Given the description of an element on the screen output the (x, y) to click on. 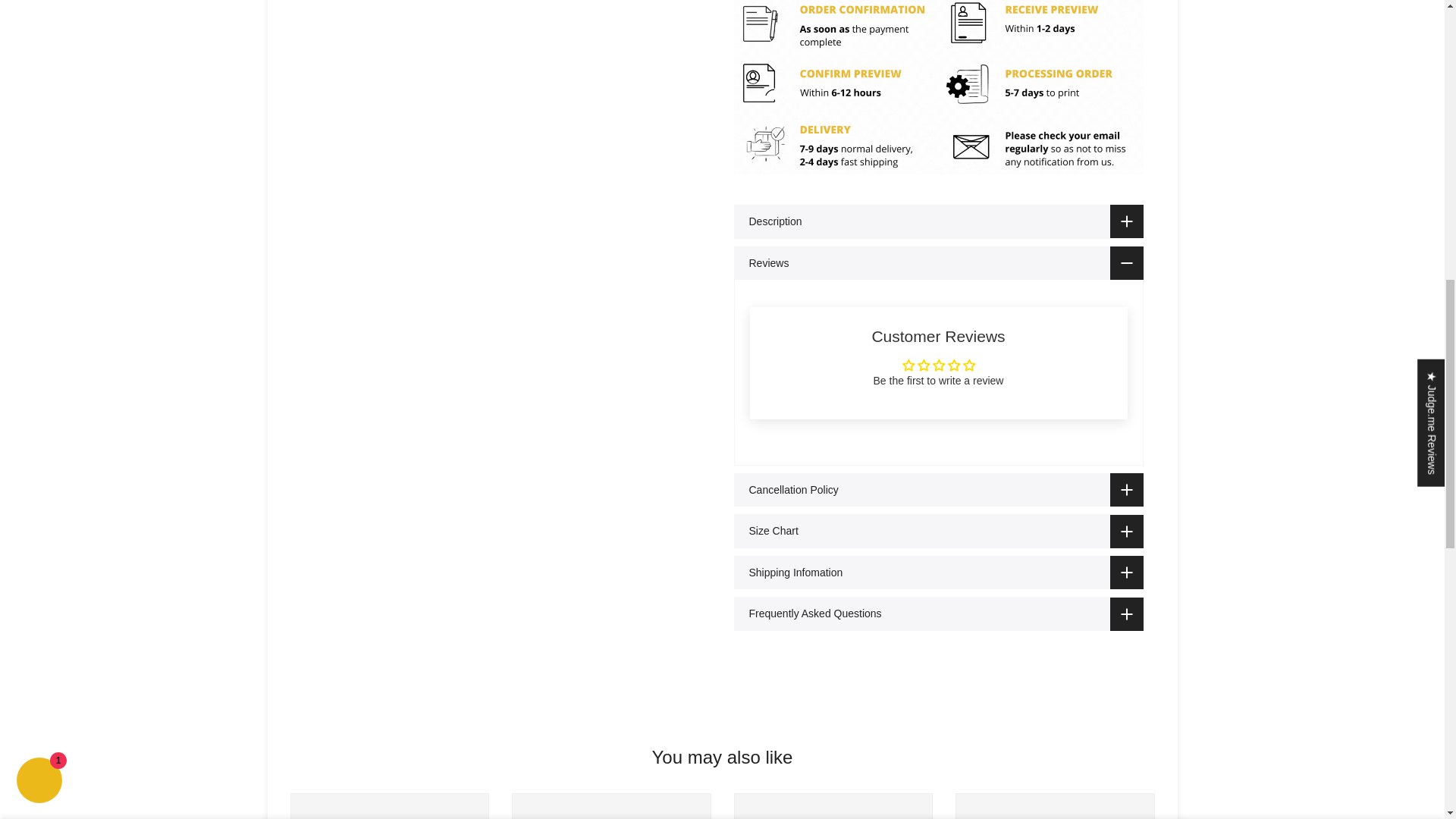
1 (990, 35)
